Given the description of an element on the screen output the (x, y) to click on. 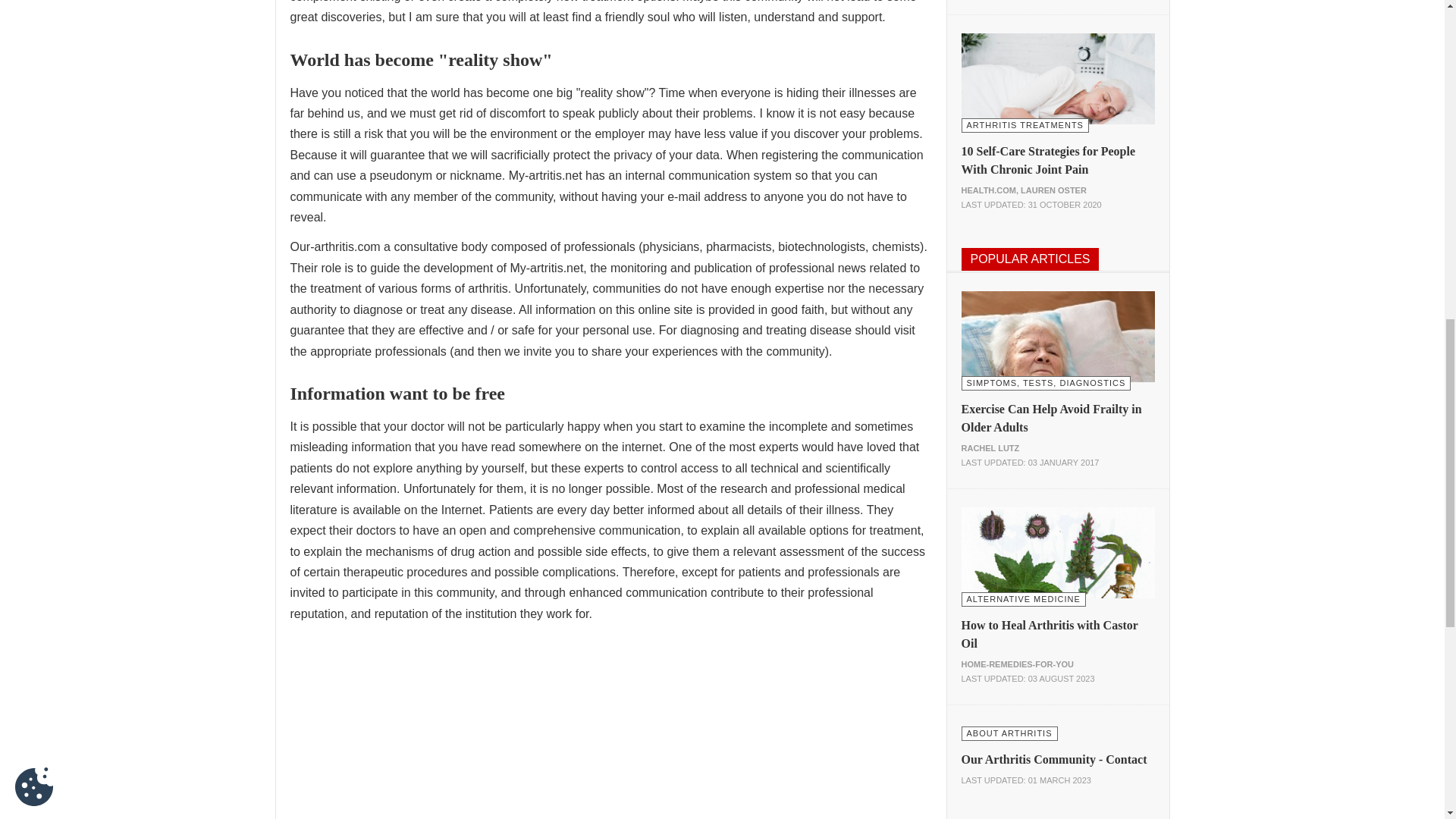
Category:  (1023, 597)
Written by:  (1023, 190)
Category:  (1024, 124)
Category:  (1009, 732)
Category:  (1045, 382)
Written by:  (990, 448)
Written by:  (1017, 664)
